Given the description of an element on the screen output the (x, y) to click on. 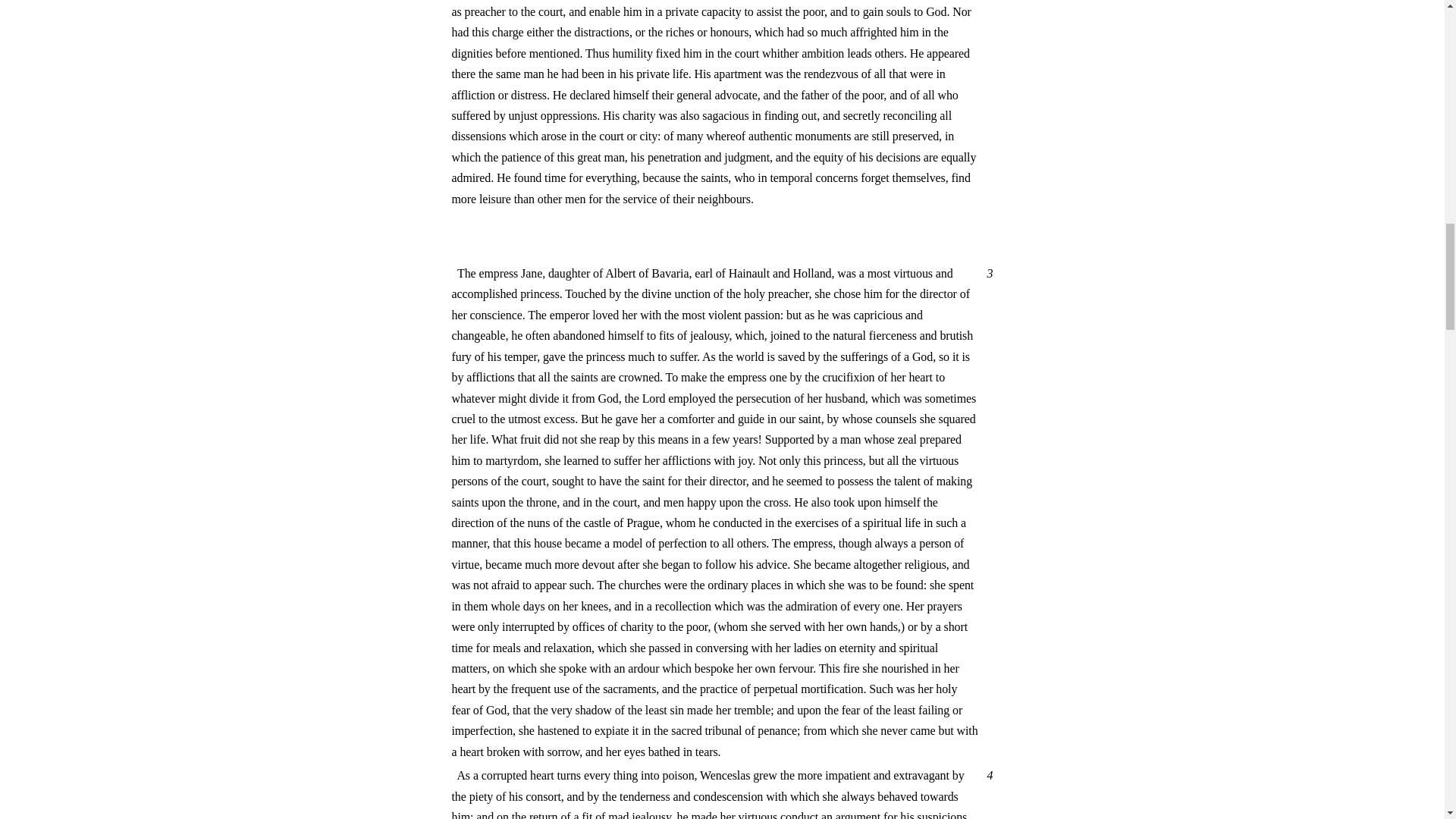
  4 (986, 775)
  3 (986, 273)
